Given the description of an element on the screen output the (x, y) to click on. 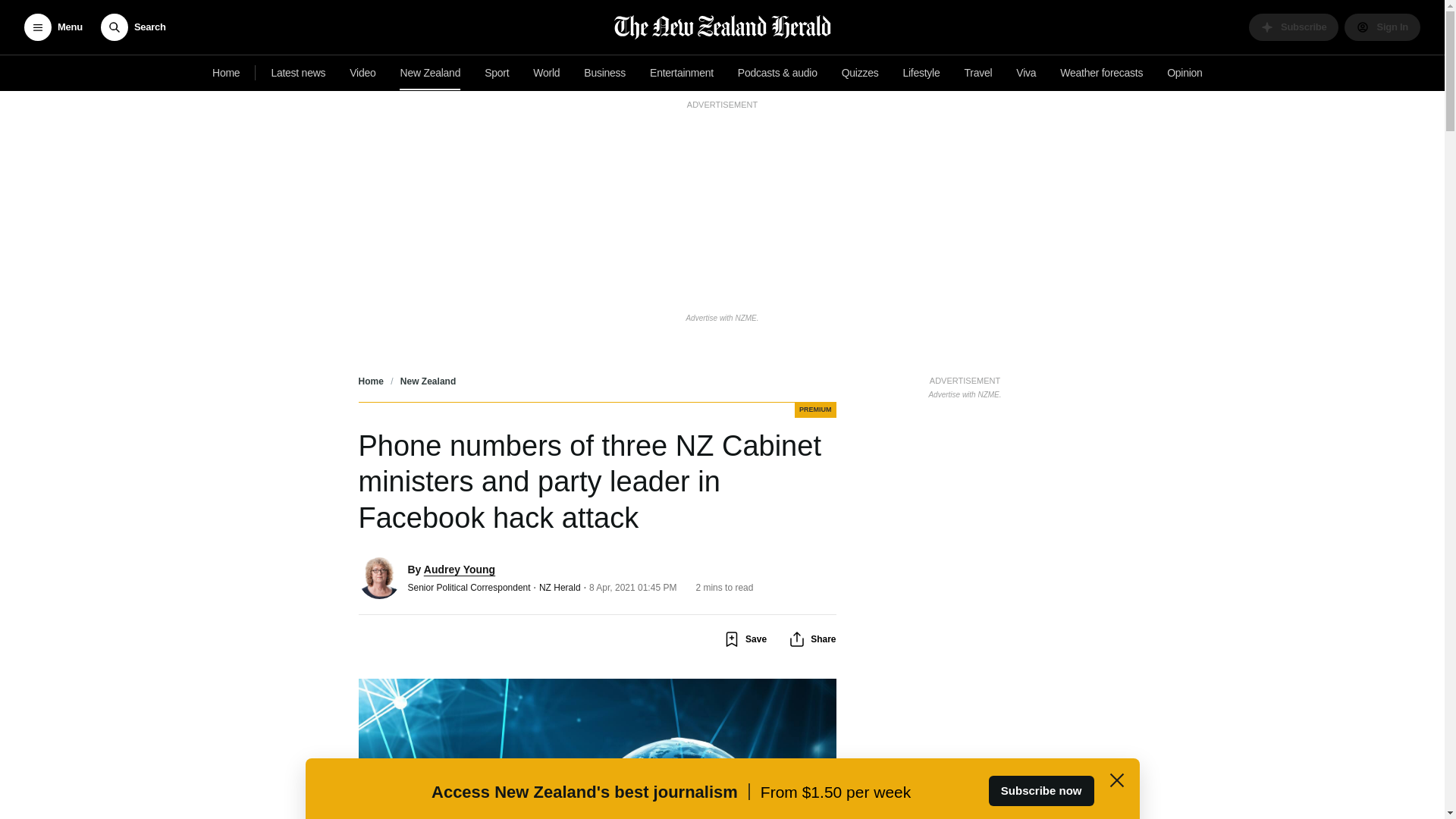
Video (362, 72)
Latest news (298, 72)
Manage your account (1382, 26)
Home (225, 72)
Travel (978, 72)
Lifestyle (921, 72)
Weather forecasts (1101, 72)
Menu (53, 26)
Quizzes (860, 72)
Search (132, 26)
